Given the description of an element on the screen output the (x, y) to click on. 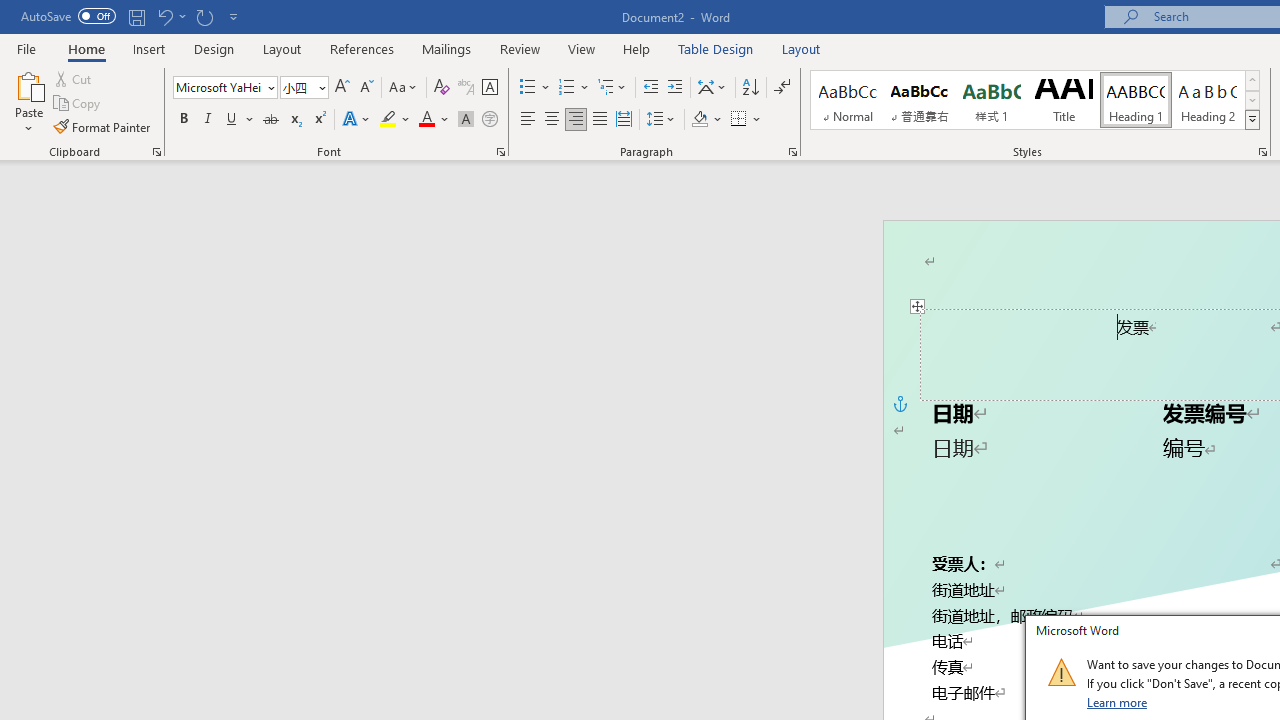
Font Color RGB(255, 0, 0) (426, 119)
